Given the description of an element on the screen output the (x, y) to click on. 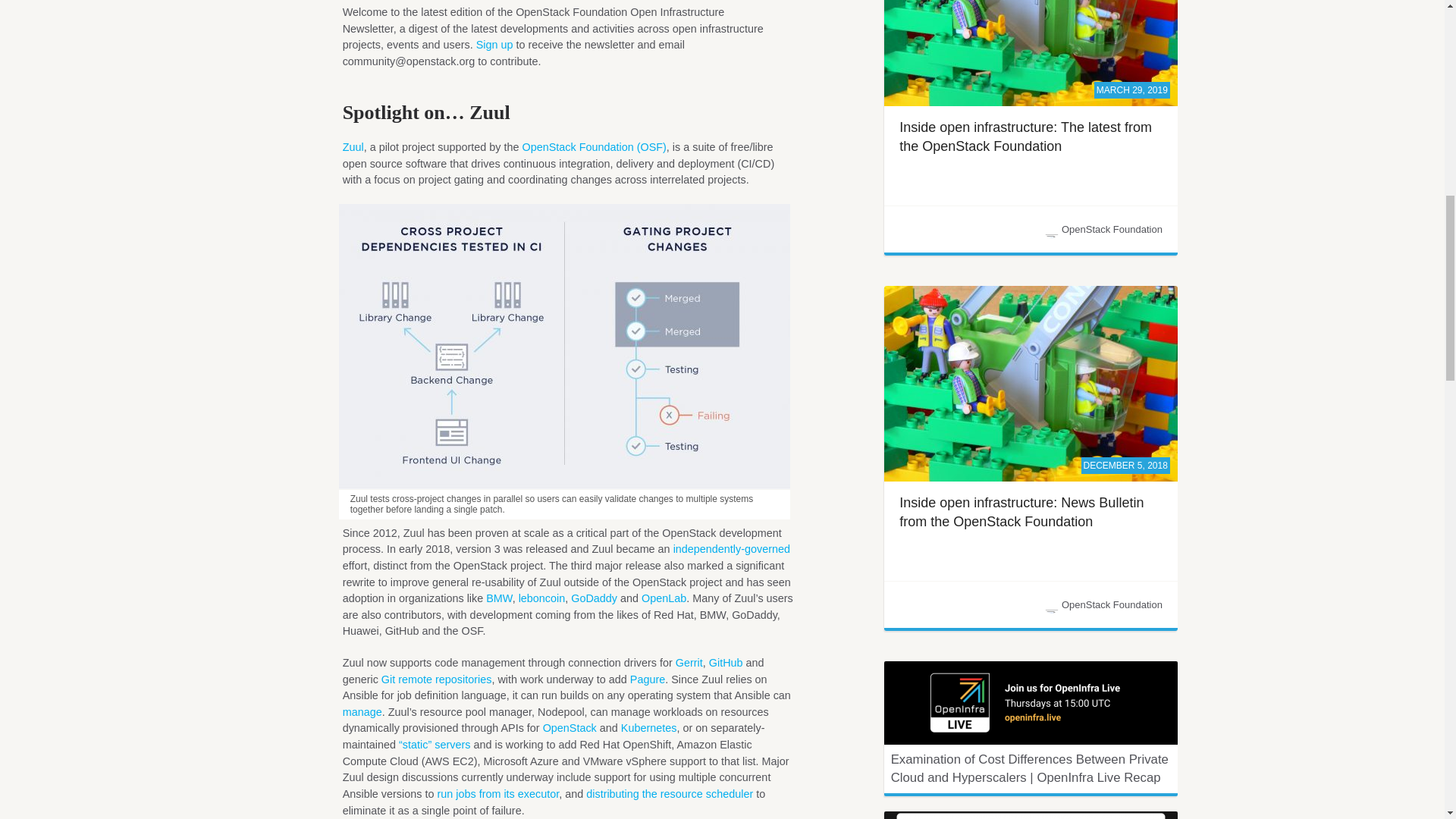
OpenStack (569, 727)
independently-governed (731, 548)
Gerrit (689, 662)
run jobs from its executor (496, 793)
OpenLab (663, 598)
GoDaddy (593, 598)
Pagure (647, 679)
Git remote repositories (436, 679)
Zuul (353, 146)
Kubernetes (649, 727)
leboncoin (542, 598)
Sign up (494, 44)
BMW (499, 598)
manage (361, 711)
distributing the resource scheduler (669, 793)
